Given the description of an element on the screen output the (x, y) to click on. 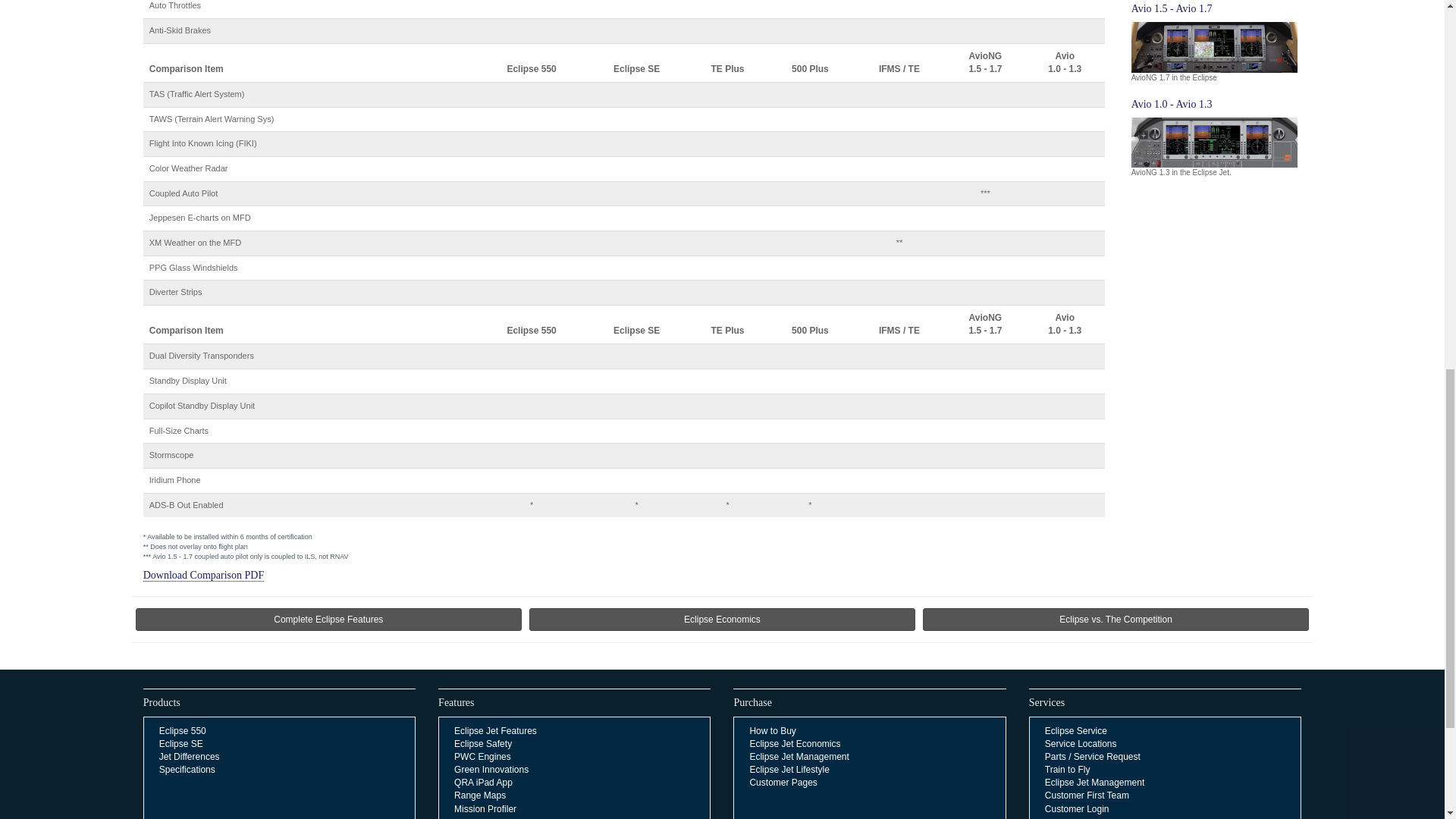
Download Comparison PDF (202, 575)
